Given the description of an element on the screen output the (x, y) to click on. 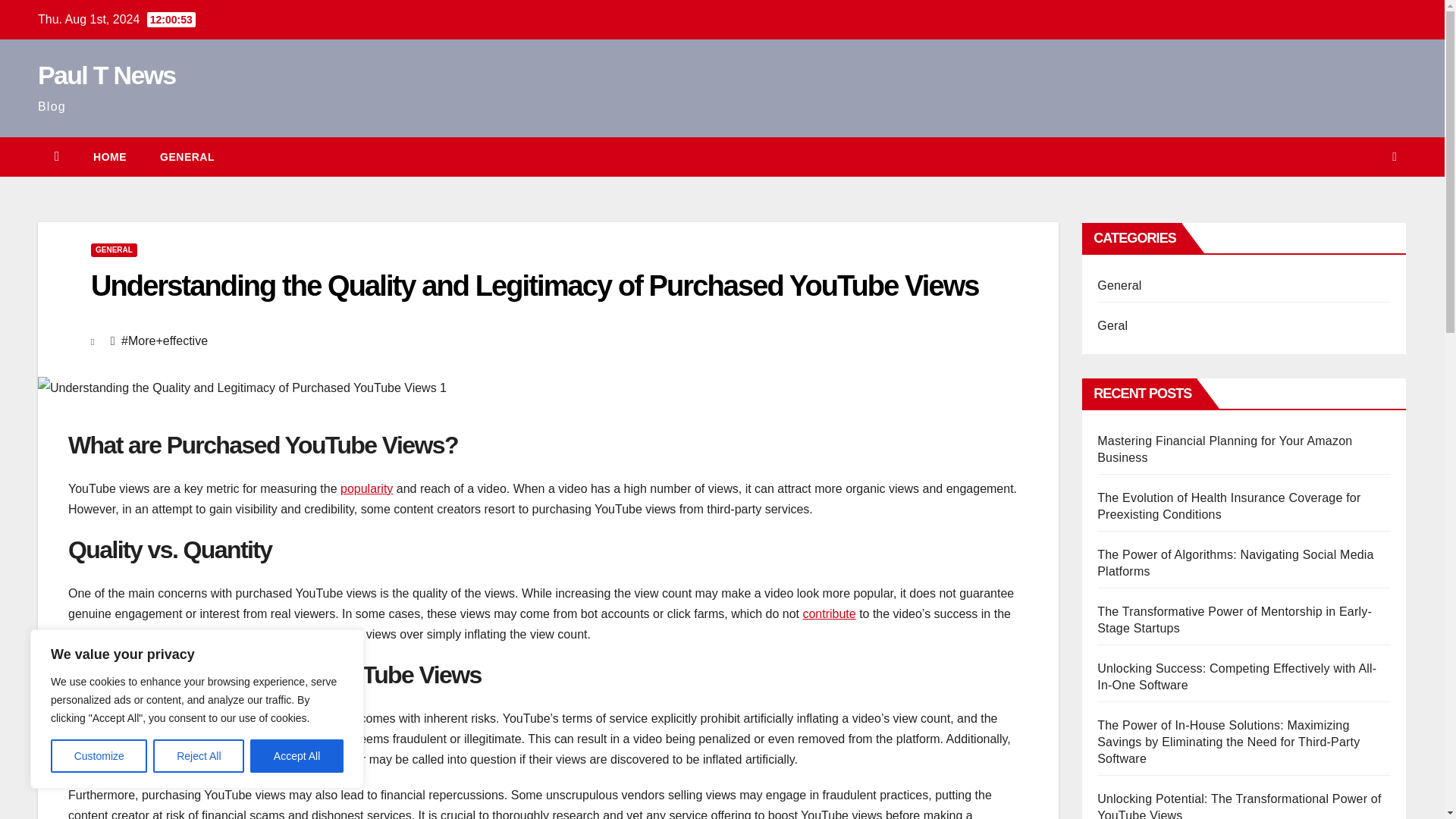
contribute (829, 613)
GENERAL (113, 250)
Customize (98, 756)
Home (109, 156)
popularity (366, 488)
General (186, 156)
Paul T News (106, 74)
HOME (109, 156)
Accept All (296, 756)
GENERAL (186, 156)
